Given the description of an element on the screen output the (x, y) to click on. 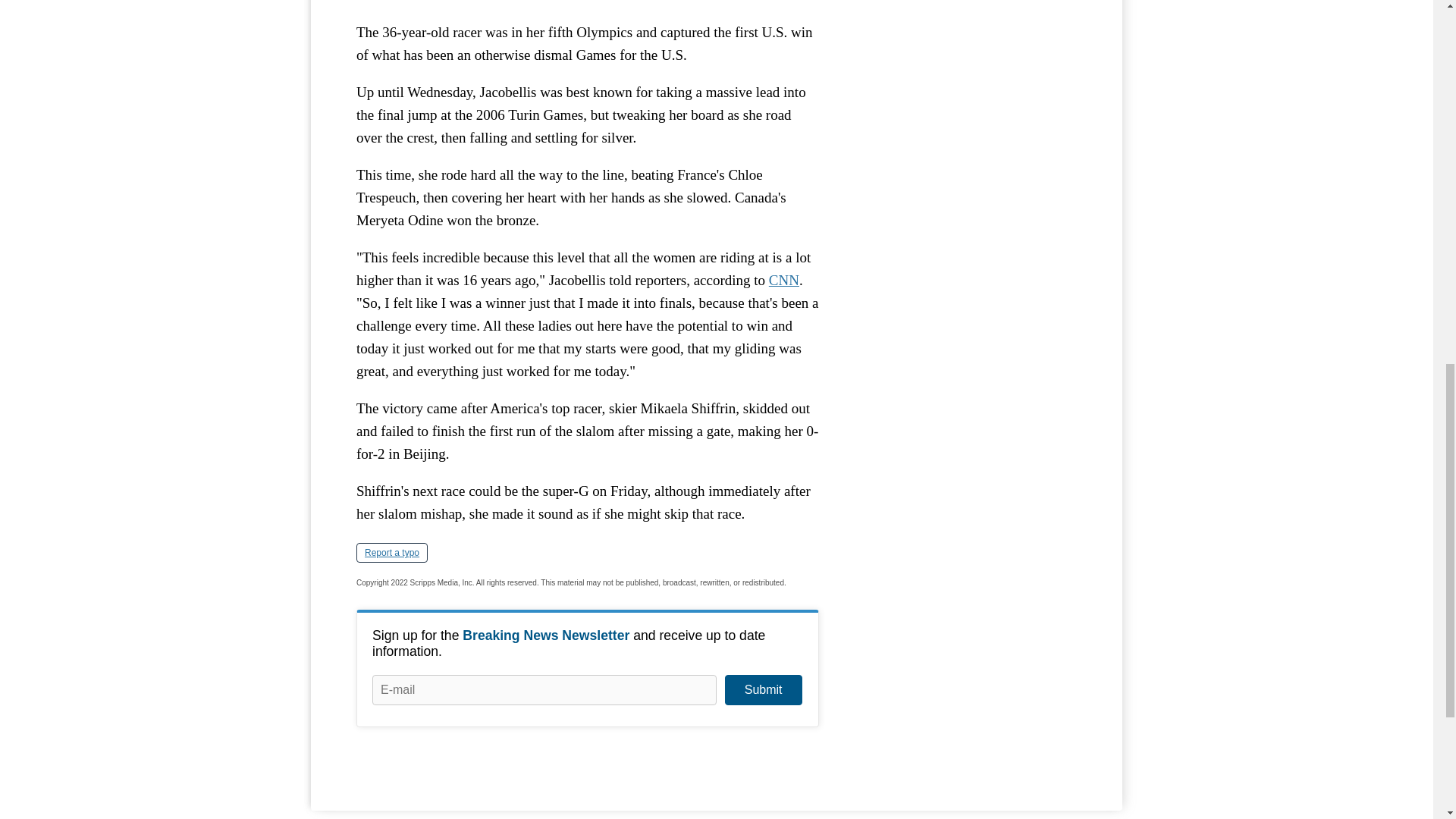
Submit (763, 689)
